Given the description of an element on the screen output the (x, y) to click on. 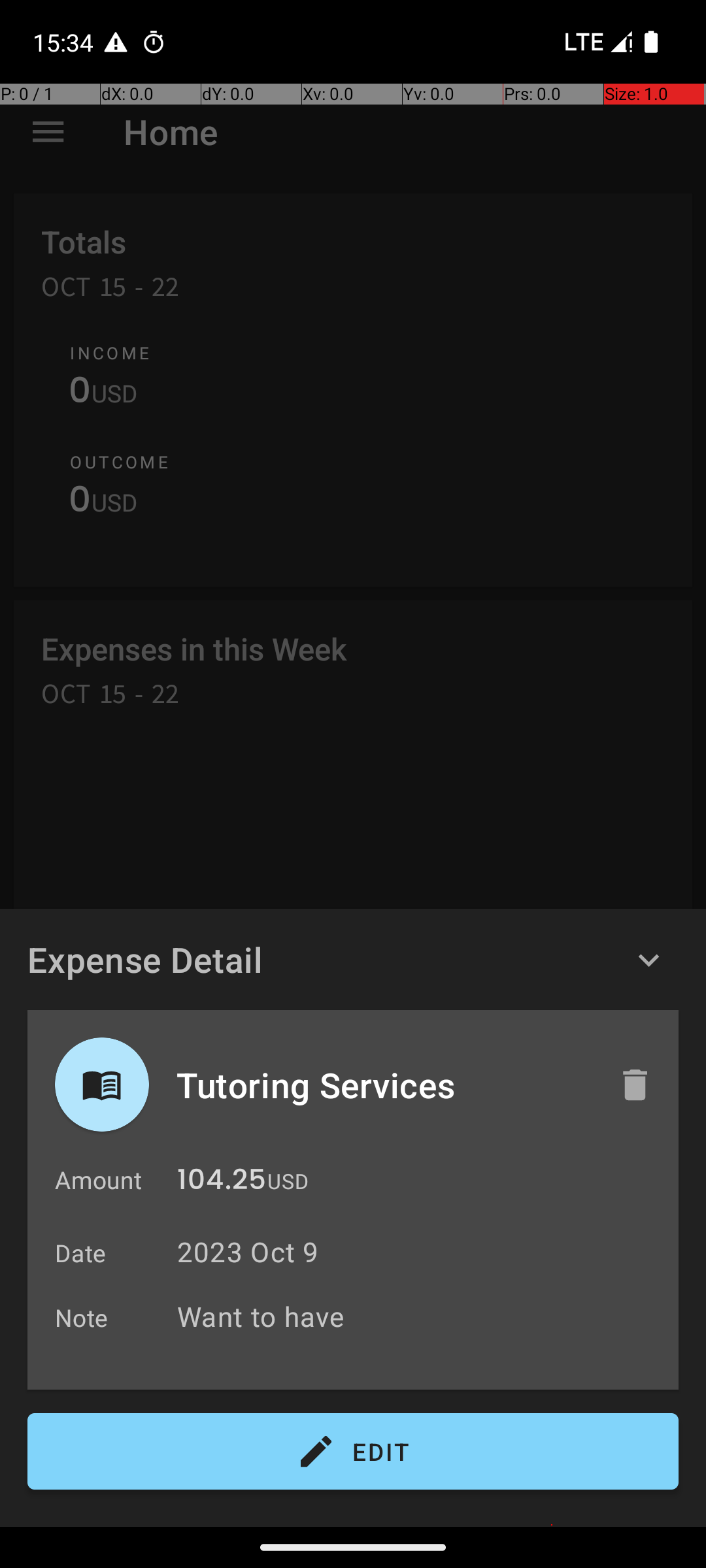
Tutoring Services Element type: android.widget.TextView (383, 1084)
104.25 Element type: android.widget.TextView (221, 1182)
2023 Oct 9 Element type: android.widget.TextView (247, 1251)
Want to have Element type: android.widget.TextView (420, 1315)
